Given the description of an element on the screen output the (x, y) to click on. 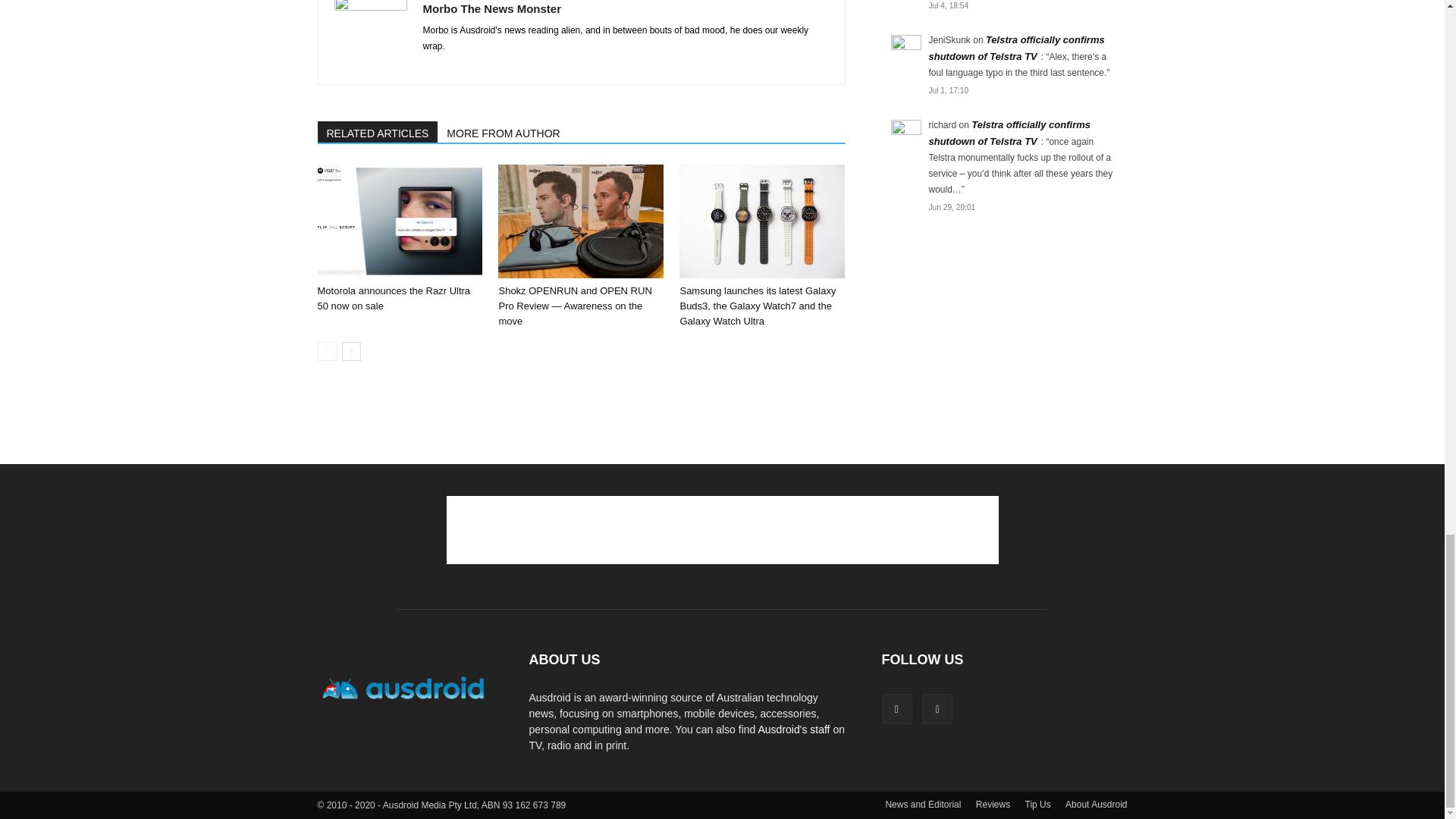
Motorola announces the Razr Ultra 50 now on sale (399, 221)
Motorola announces the Razr Ultra 50 now on sale (393, 298)
